Given the description of an element on the screen output the (x, y) to click on. 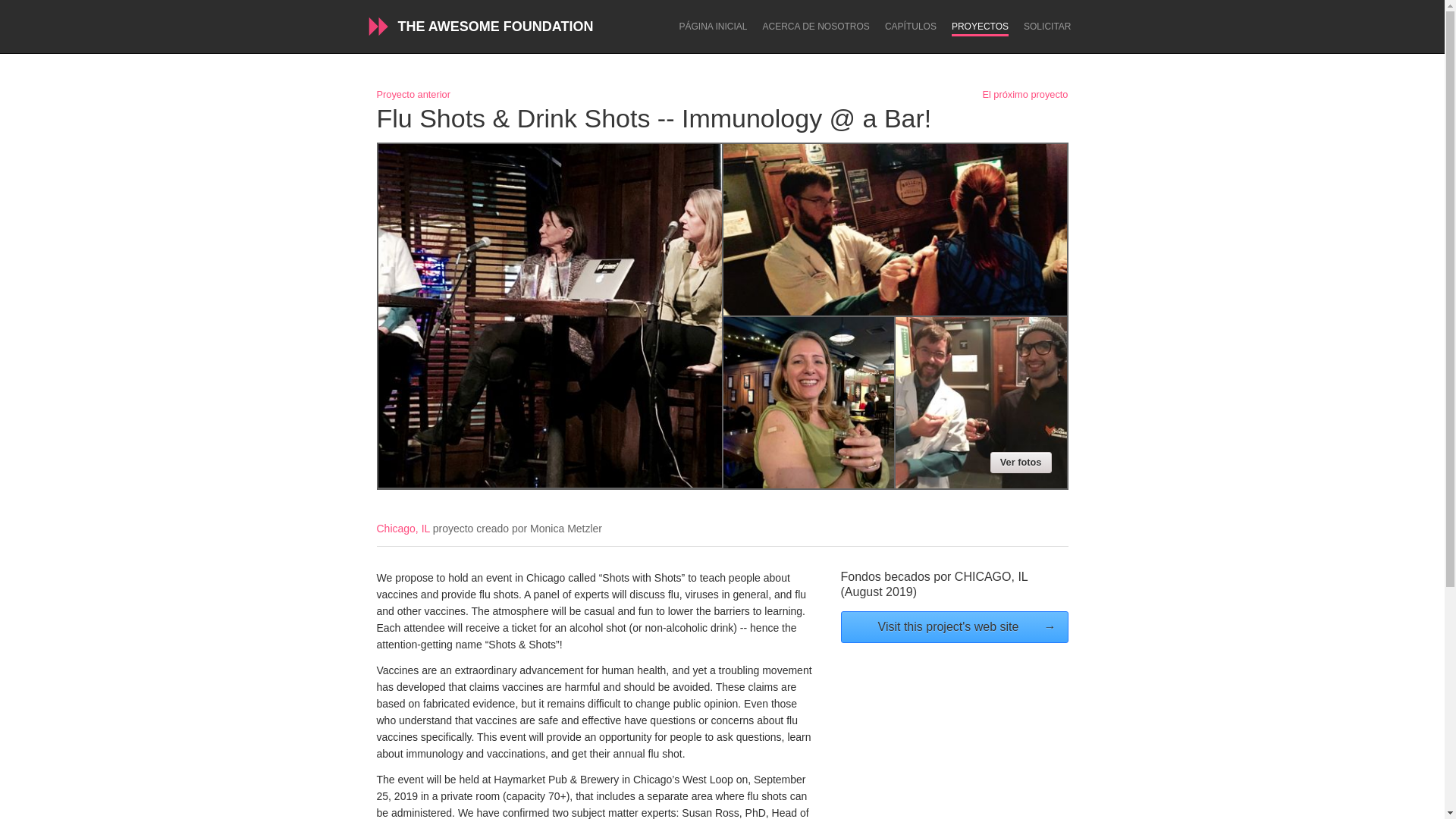
PROYECTOS (980, 28)
ACERCA DE NOSOTROS (815, 27)
SOLICITAR (1046, 27)
